Given the description of an element on the screen output the (x, y) to click on. 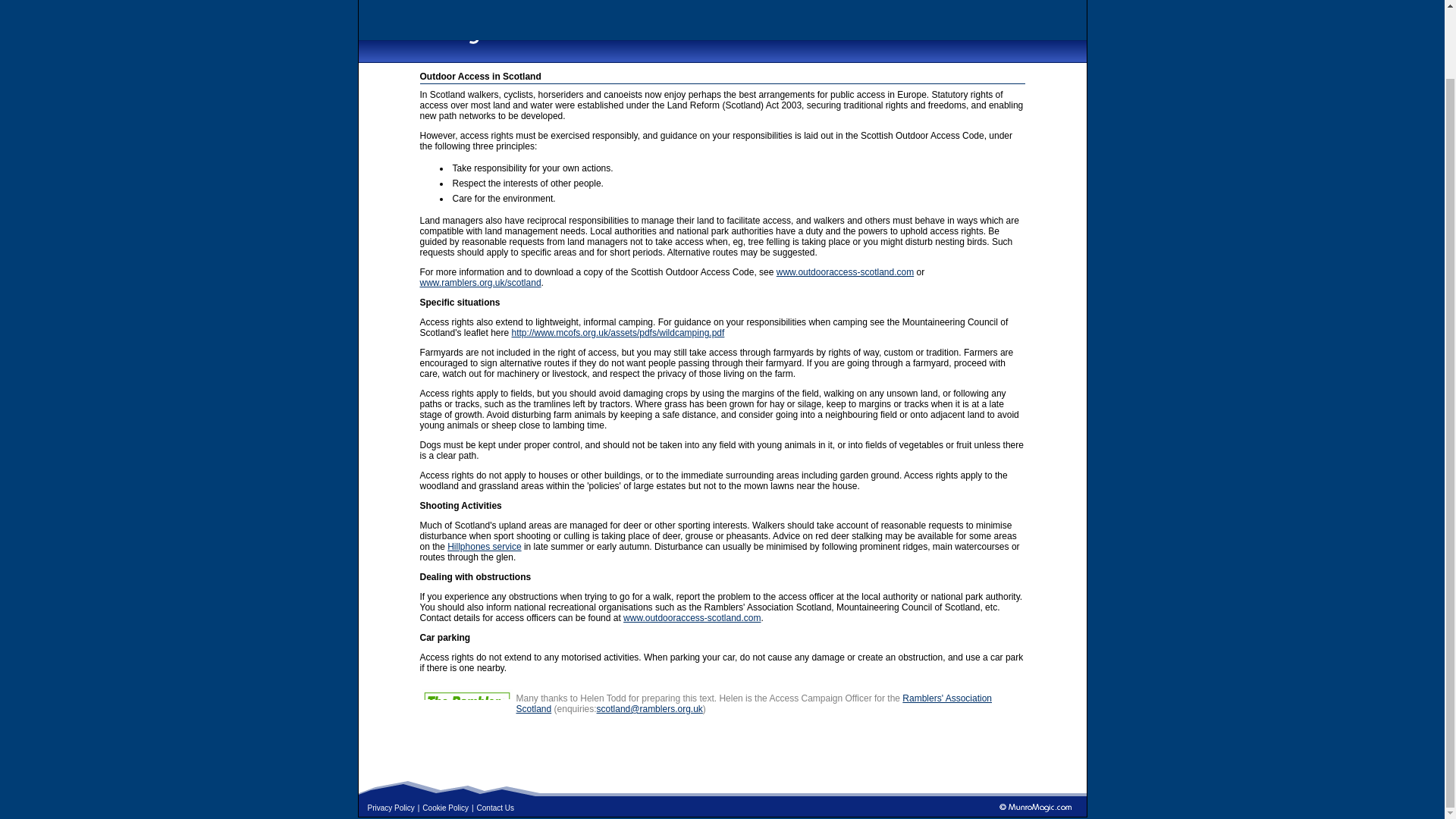
Privacy Policy (389, 807)
www.outdooraccess-scotland.com (845, 271)
Ramblers' Association Scotland (753, 703)
www.outdooraccess-scotland.com (691, 617)
Cookie Policy (445, 807)
Hillphones service (483, 546)
Contact Us (495, 807)
